Given the description of an element on the screen output the (x, y) to click on. 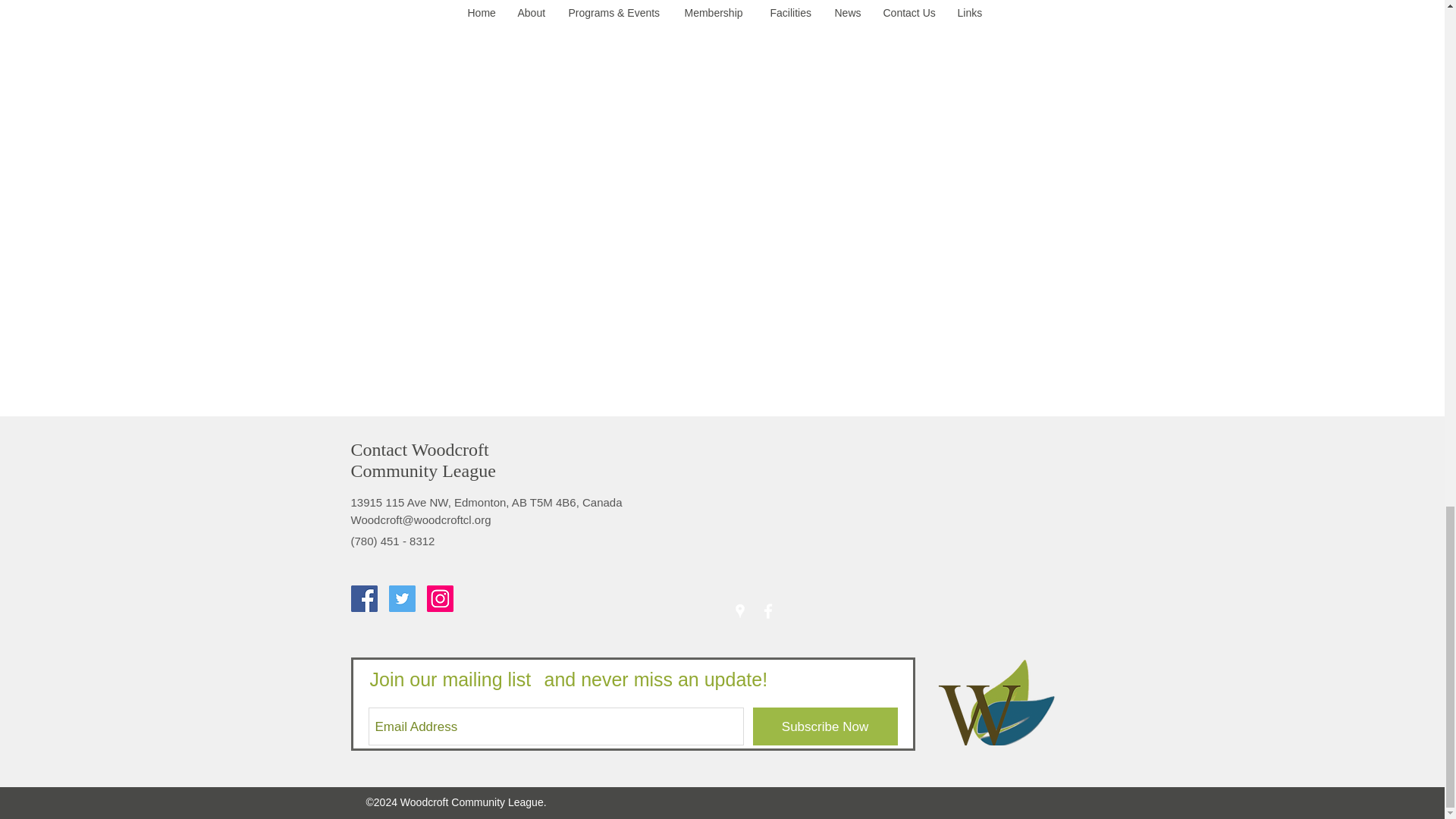
Subscribe Now (824, 726)
